Given the description of an element on the screen output the (x, y) to click on. 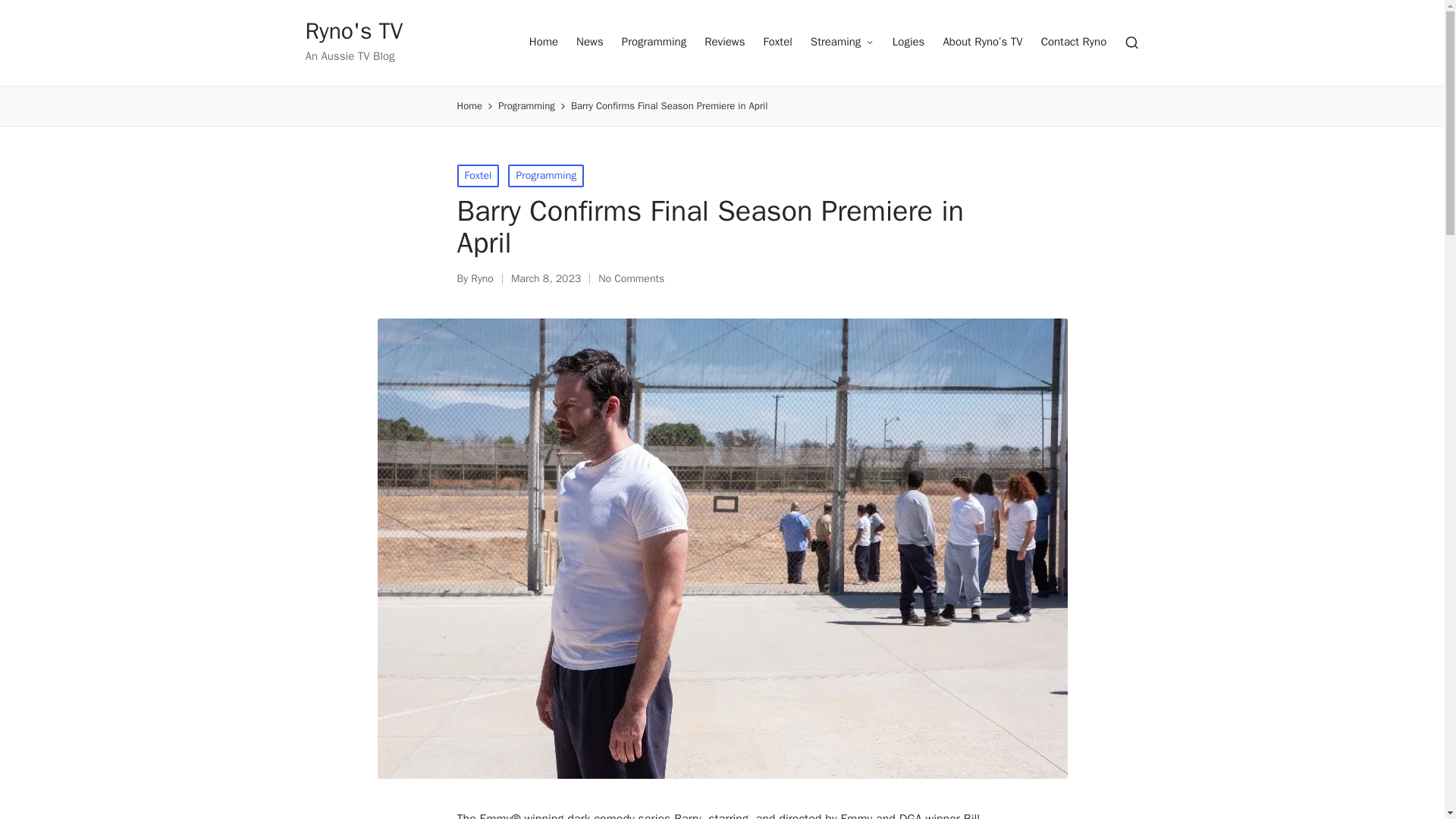
Ryno's TV (353, 31)
Foxtel (478, 175)
Programming (525, 106)
Streaming (842, 42)
No Comments (630, 279)
Contact Ryno (1073, 42)
Ryno (481, 278)
Foxtel (777, 42)
Programming (545, 175)
Programming (653, 42)
Home (543, 42)
View all posts by Ryno (481, 278)
Reviews (724, 42)
Logies (908, 42)
Home (469, 106)
